Given the description of an element on the screen output the (x, y) to click on. 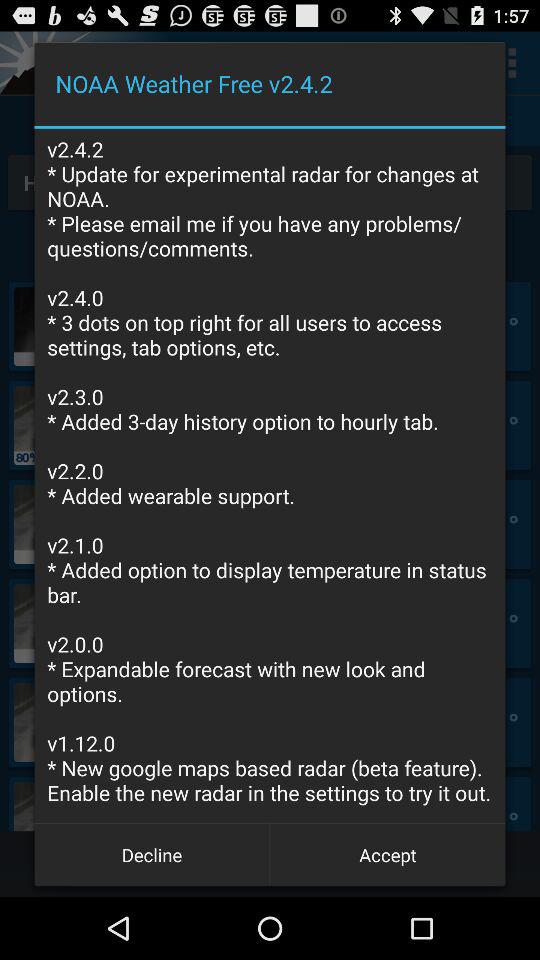
open the button to the right of decline button (387, 854)
